Given the description of an element on the screen output the (x, y) to click on. 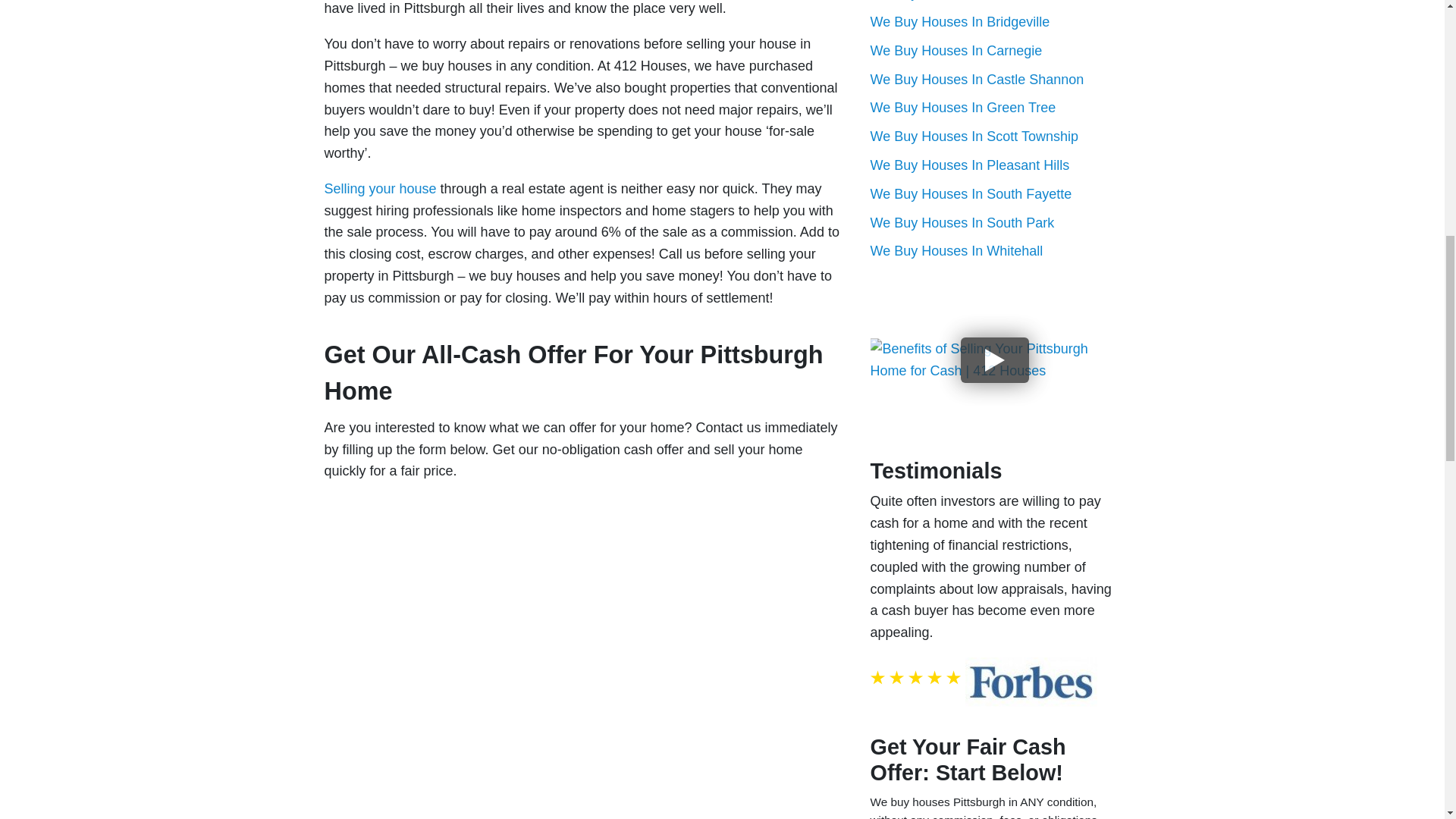
Selling your house (380, 188)
forbes (1031, 681)
We Buy Houses In Bridgeville (959, 21)
